Given the description of an element on the screen output the (x, y) to click on. 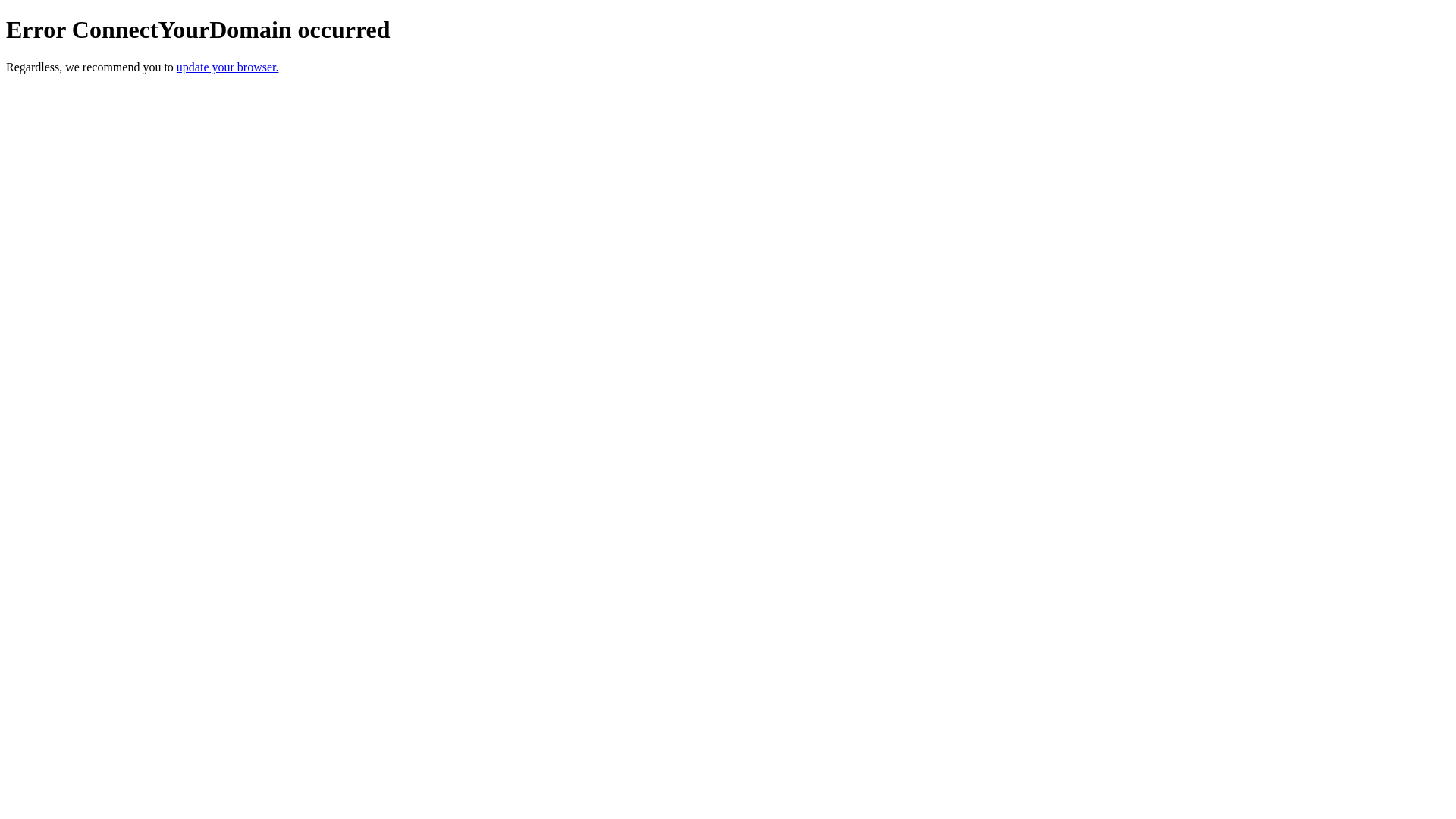
update your browser. Element type: text (227, 66)
